Given the description of an element on the screen output the (x, y) to click on. 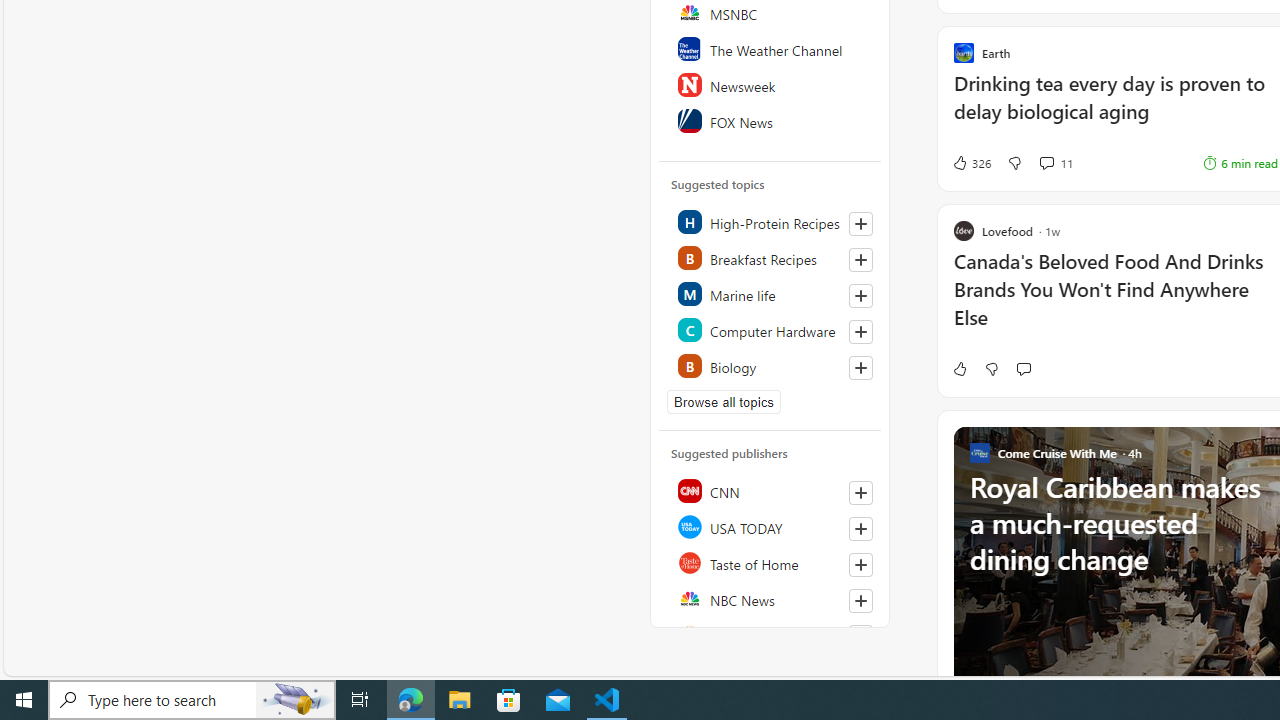
View comments 11 Comment (1046, 162)
Browse all topics (724, 401)
Follow this topic (860, 367)
Newsweek (771, 84)
326 Like (970, 162)
Start the conversation (1023, 368)
Start the conversation (1023, 368)
The Weather Channel (771, 48)
Class: highlight (771, 365)
Follow this source (860, 636)
Follow this source (860, 600)
